Given the description of an element on the screen output the (x, y) to click on. 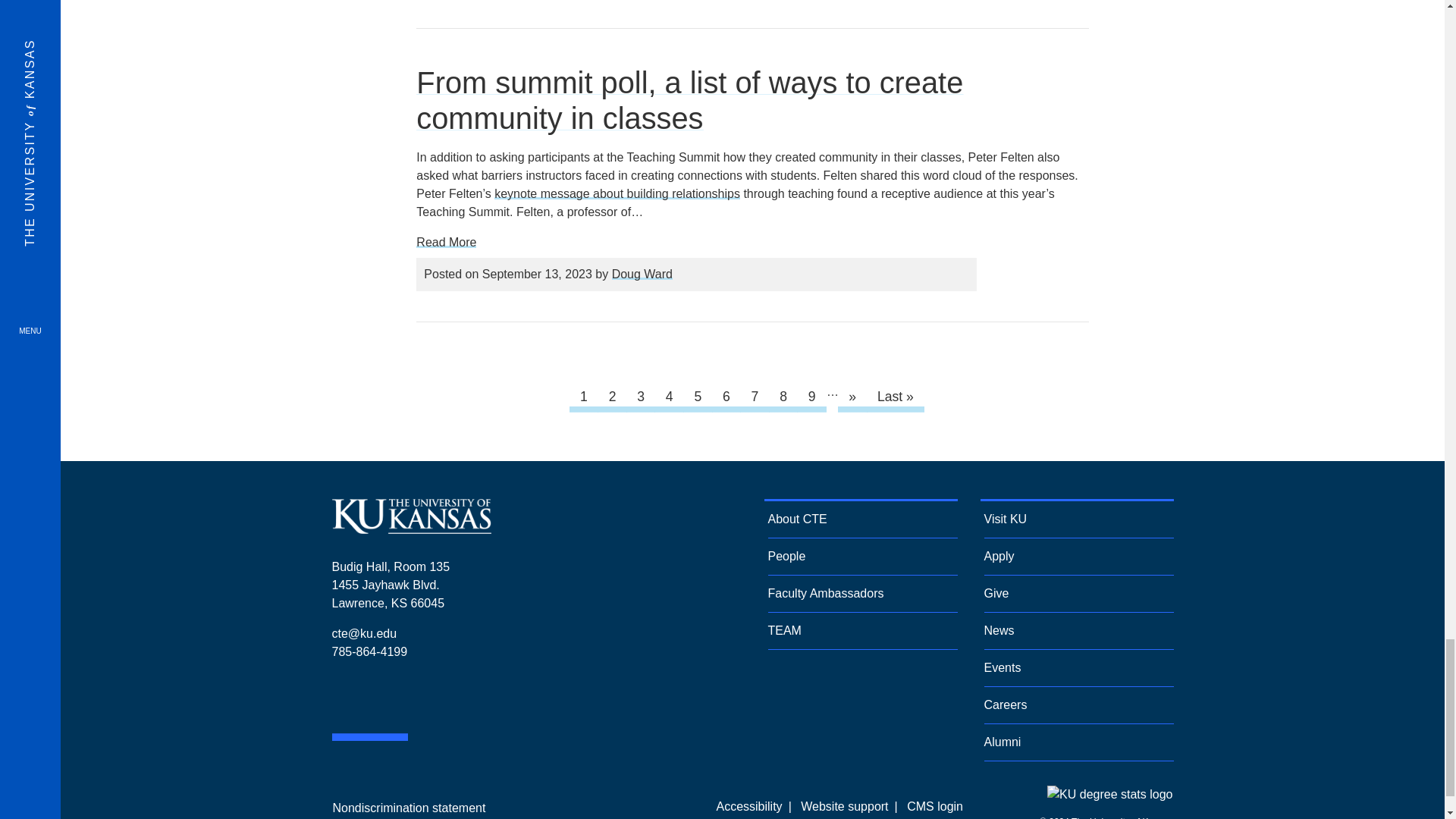
Current page (583, 397)
Go to page 7 (754, 397)
Go to page 4 (668, 397)
Go to last page (895, 397)
Go to page 5 (697, 397)
Go to page 6 (726, 397)
Go to page 3 (641, 397)
Go to next page (852, 397)
Go to page 8 (782, 397)
Go to page 9 (811, 397)
The University of Kansas (411, 527)
Go to page 2 (611, 397)
